Given the description of an element on the screen output the (x, y) to click on. 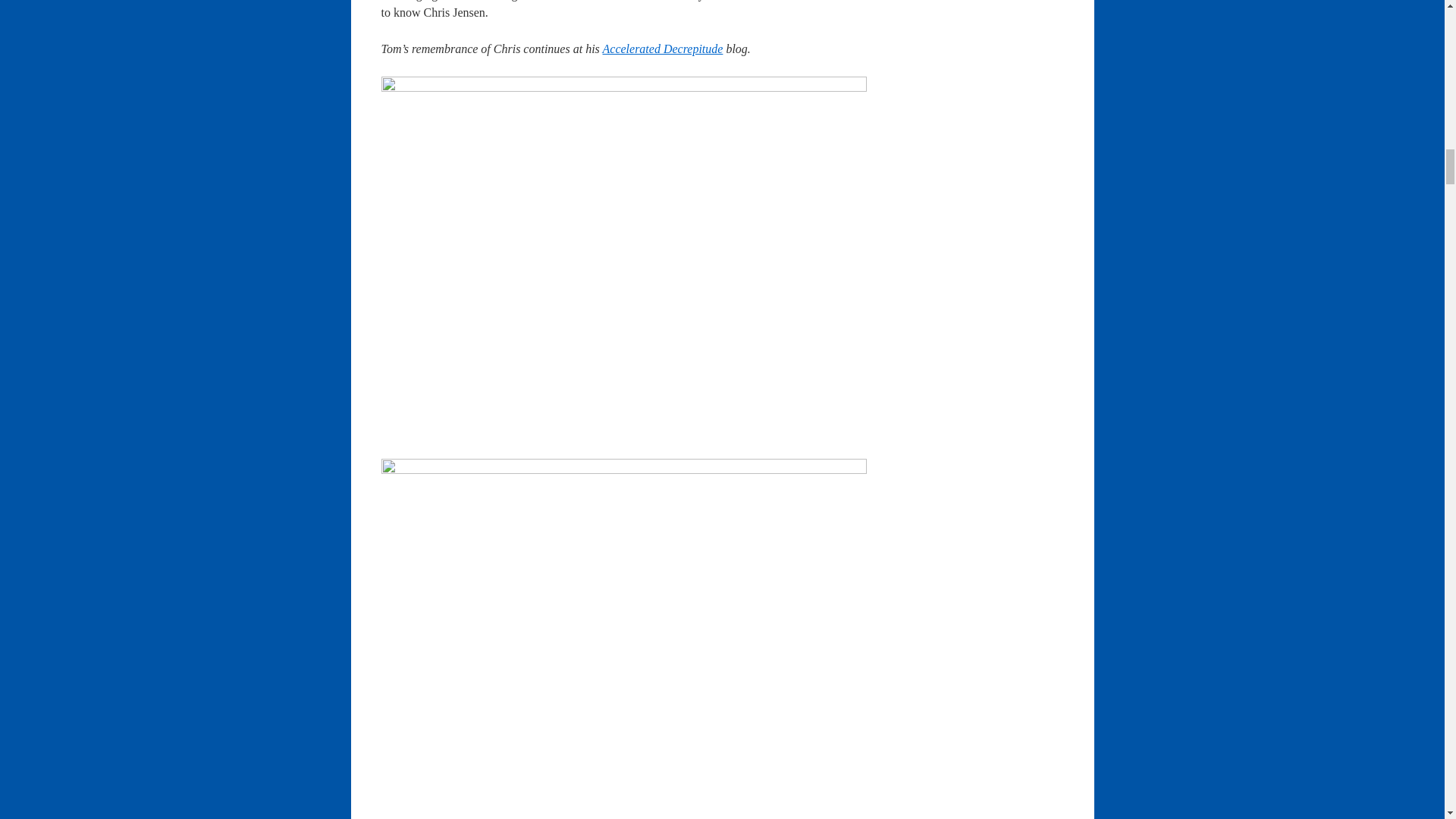
Accelerated Decrepitude (662, 48)
